Given the description of an element on the screen output the (x, y) to click on. 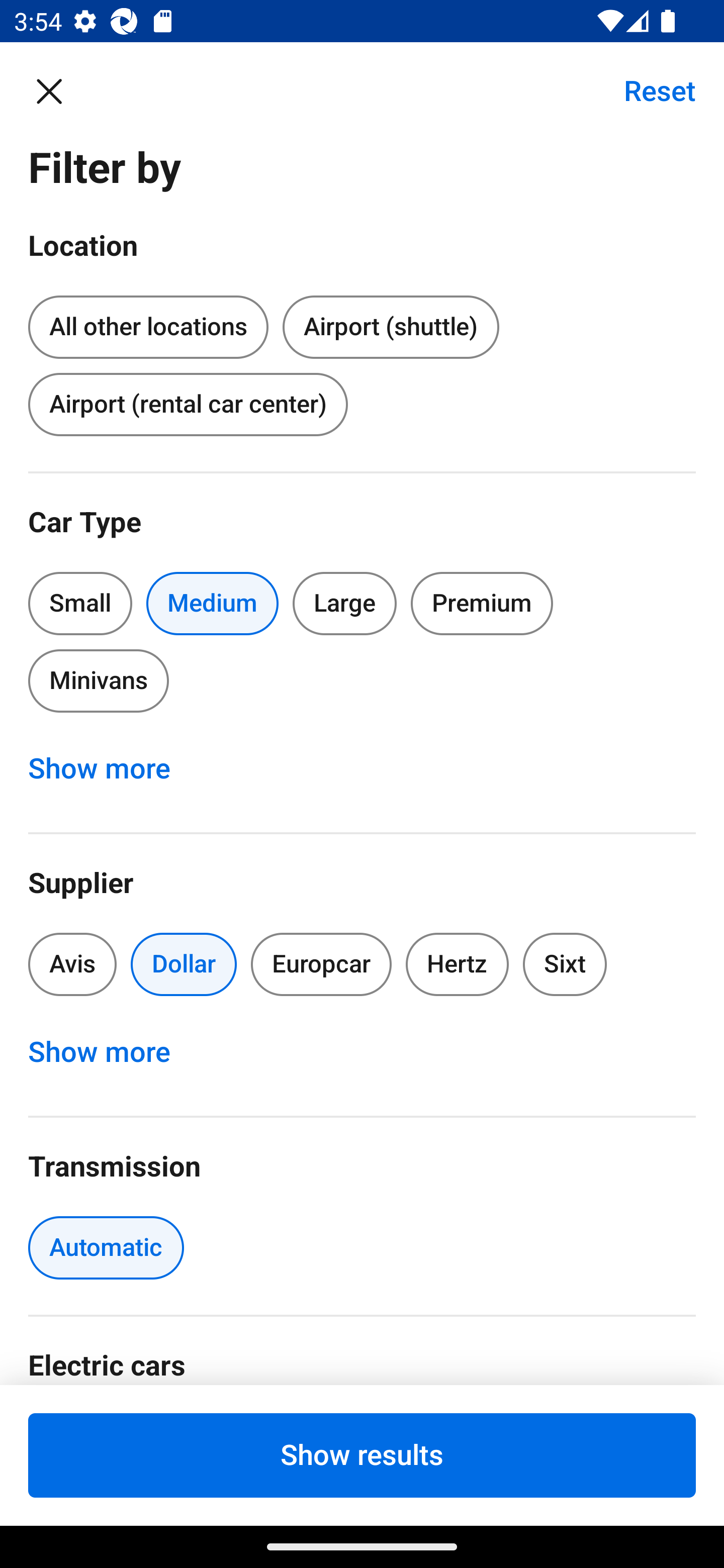
Close (59, 90)
Reset (649, 90)
All other locations (148, 323)
Airport (shuttle) (390, 327)
Airport (rental car center) (187, 404)
Small (80, 603)
Large (344, 603)
Premium (482, 603)
Minivans (98, 680)
Show more (109, 767)
Avis (72, 963)
Europcar (321, 963)
Hertz (457, 963)
Sixt (564, 963)
Show more (109, 1051)
Show results (361, 1454)
